Given the description of an element on the screen output the (x, y) to click on. 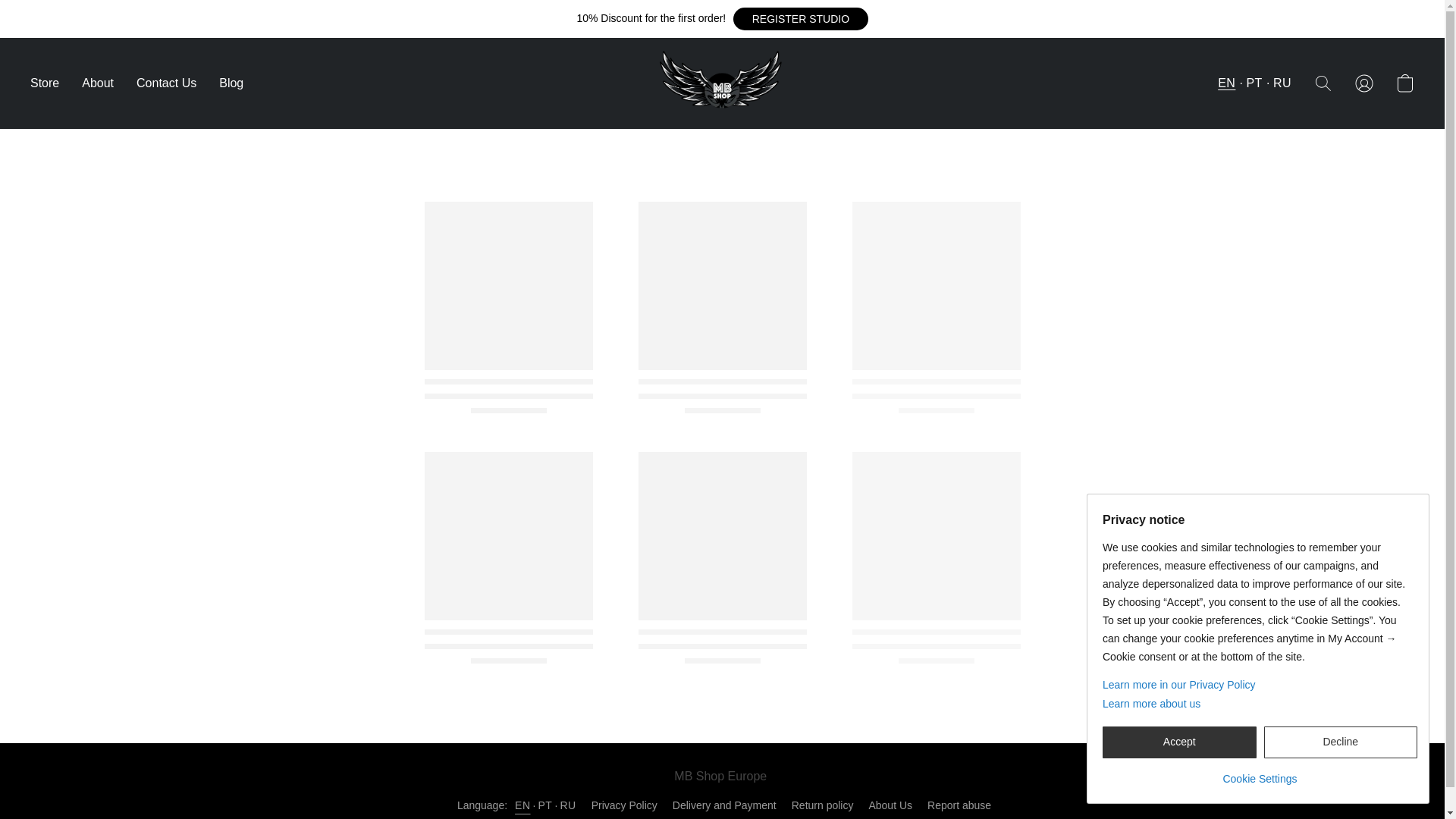
Return policy (822, 805)
Contact Us (166, 82)
Learn more about us (1259, 703)
About Us (889, 805)
Accept (1179, 742)
Go to your shopping cart (1404, 82)
Cookie Settings (1259, 772)
Blog (225, 82)
REGISTER STUDIO (800, 18)
Decline (1339, 742)
